Given the description of an element on the screen output the (x, y) to click on. 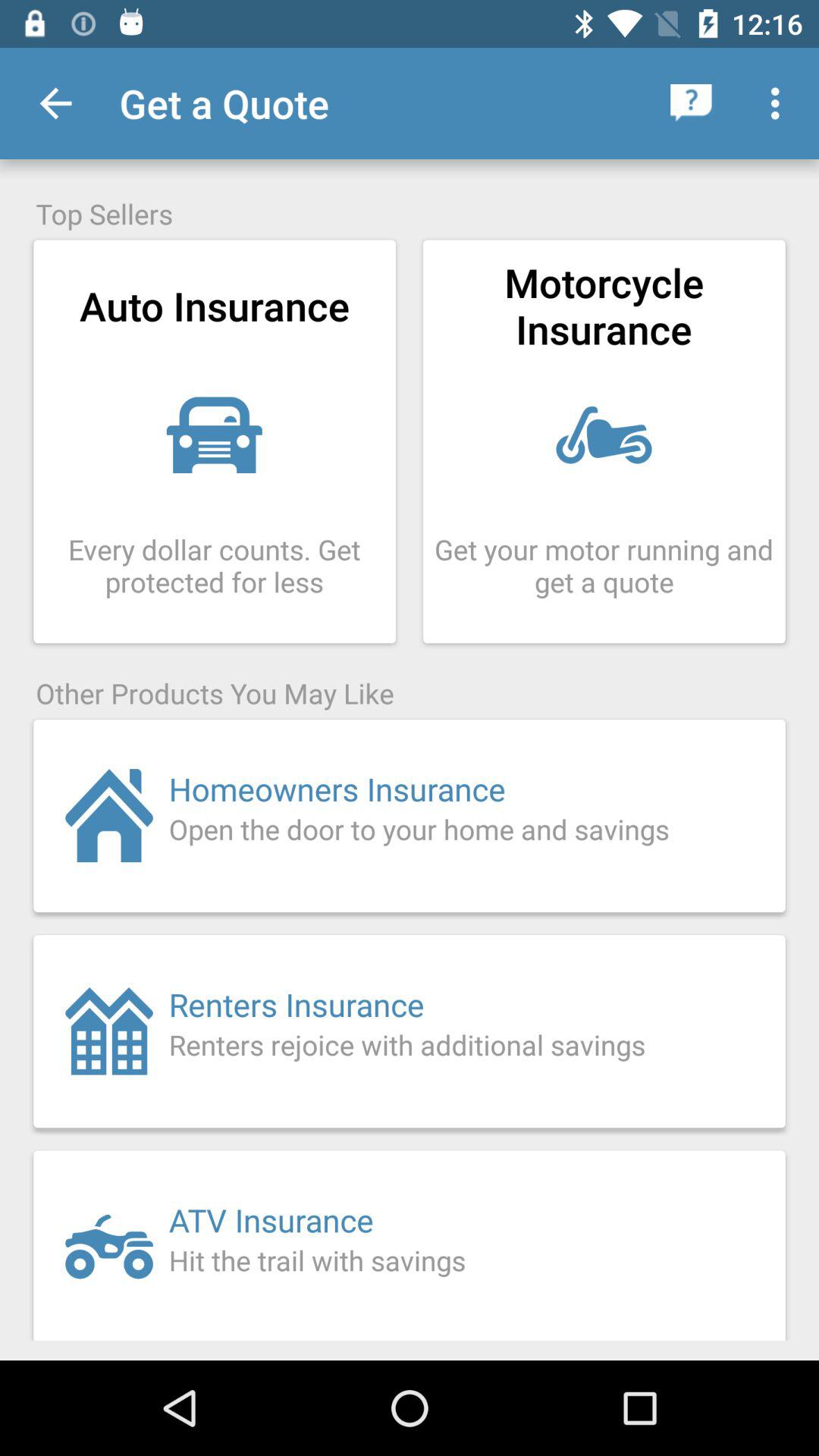
press the icon above the top sellers icon (55, 103)
